Given the description of an element on the screen output the (x, y) to click on. 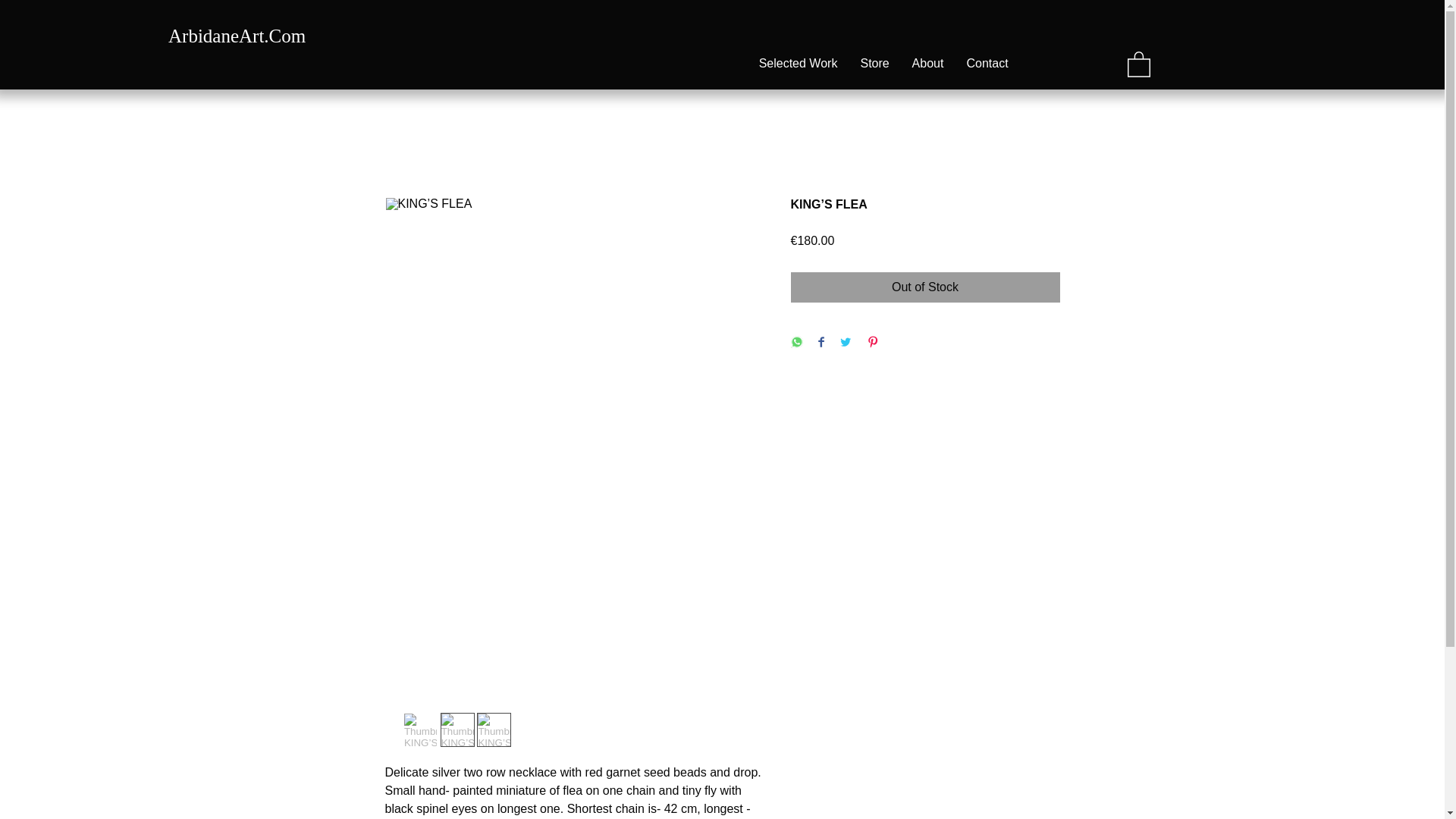
Contact (987, 62)
Out of Stock (924, 286)
About (928, 62)
Selected Work (798, 62)
Store (874, 62)
ArbidaneArt.Com (236, 35)
